Given the description of an element on the screen output the (x, y) to click on. 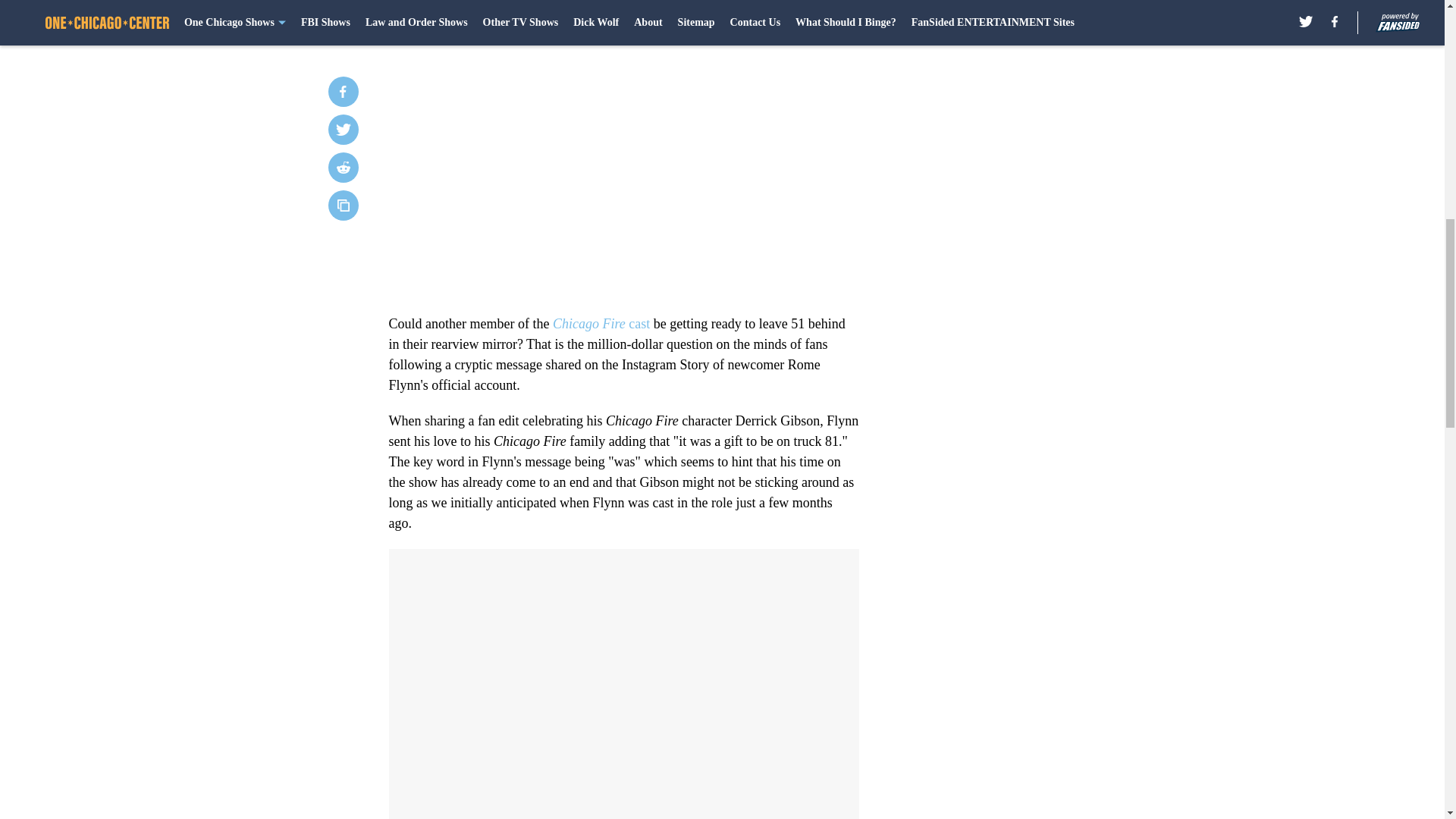
Chicago Fire cast (601, 323)
